Given the description of an element on the screen output the (x, y) to click on. 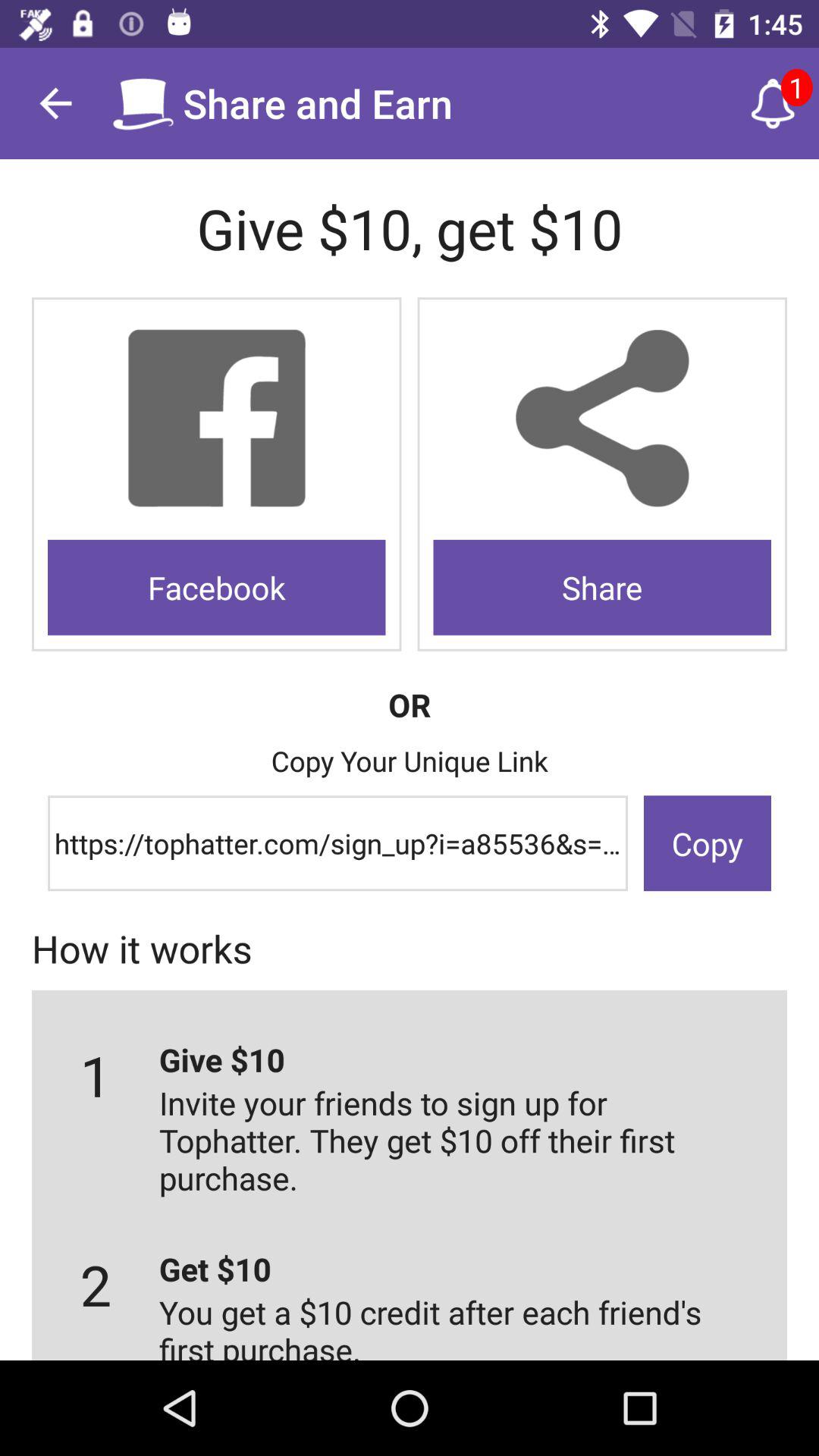
select to share option (602, 418)
